Given the description of an element on the screen output the (x, y) to click on. 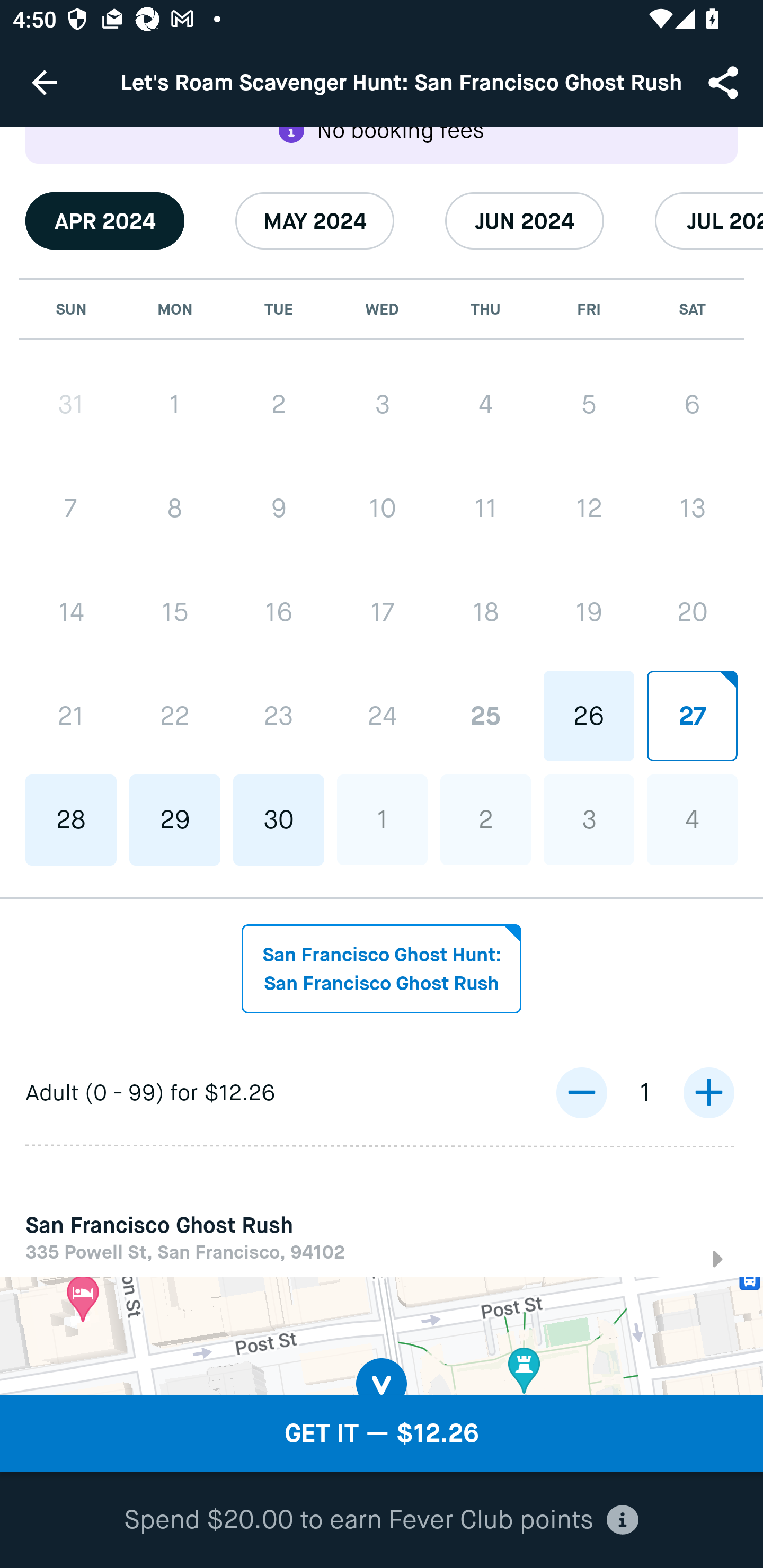
Navigate up (44, 82)
Share (724, 81)
APR 2024 (104, 220)
MAY 2024 (314, 220)
JUN 2024 (524, 220)
JUL 2024 (708, 220)
31 (70, 404)
1 (174, 404)
2 (278, 404)
3 (382, 404)
4 (485, 404)
5 (588, 404)
6 (692, 404)
7 (70, 507)
8 (174, 507)
9 (278, 507)
10 (382, 507)
11 (485, 507)
12 (588, 507)
13 (692, 507)
14 (70, 612)
15 (174, 612)
16 (278, 612)
17 (382, 611)
18 (485, 611)
19 (588, 611)
20 (692, 611)
21 (70, 716)
22 (174, 716)
23 (278, 716)
24 (382, 715)
25 (485, 715)
26 (588, 715)
27 (692, 715)
28 (70, 819)
29 (174, 819)
30 (278, 819)
1 (382, 819)
2 (485, 819)
3 (588, 819)
4 (692, 819)
San Francisco Ghost Hunt: San Francisco Ghost Rush (381, 968)
decrease (581, 1092)
increase (708, 1092)
Google Map Map Marker (381, 1336)
GET IT — $12.26 (381, 1433)
Spend $20.00 to earn Fever Club points (381, 1519)
